Given the description of an element on the screen output the (x, y) to click on. 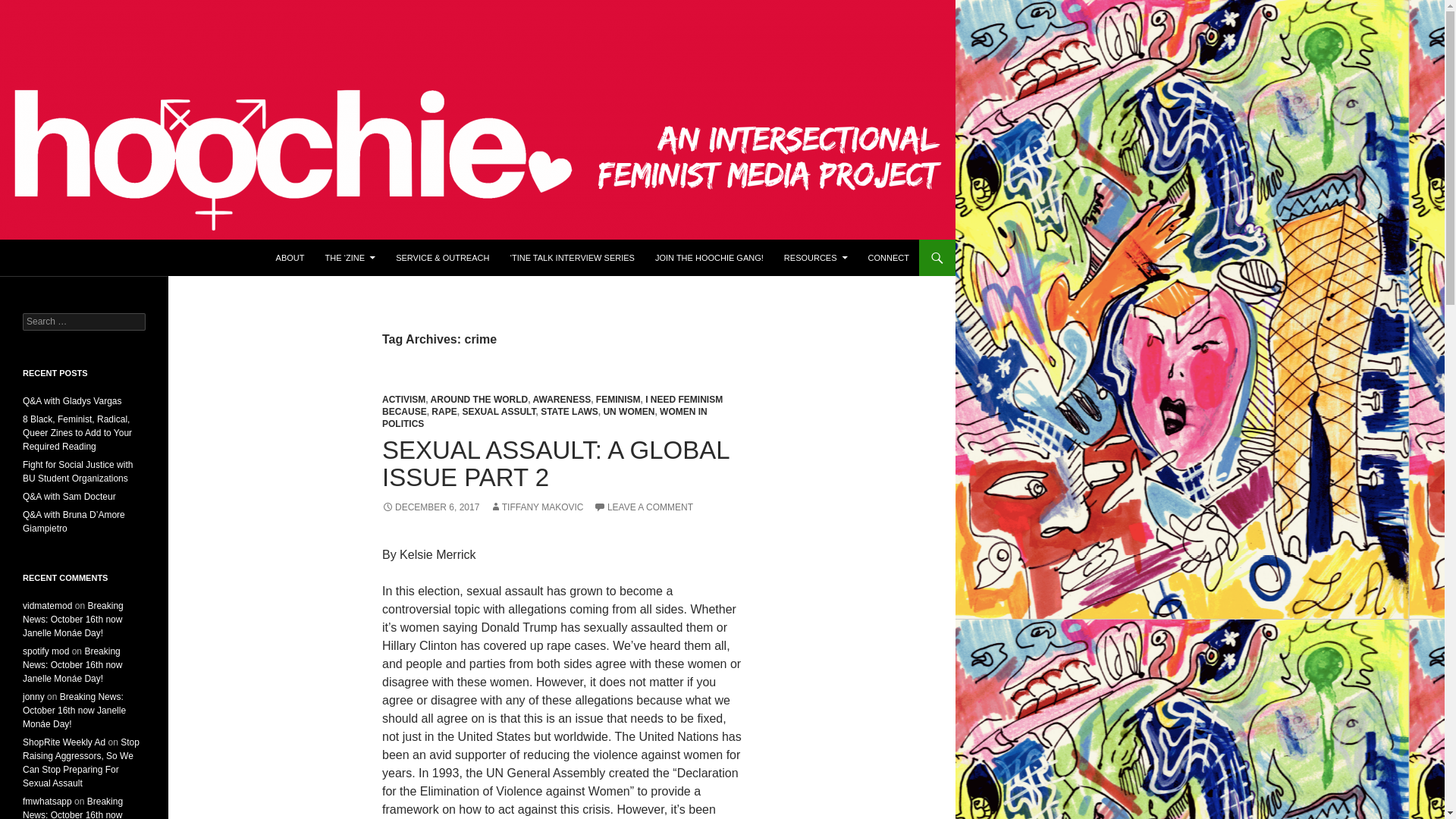
DECEMBER 6, 2017 (430, 507)
STATE LAWS (569, 411)
I NEED FEMINISM BECAUSE (551, 404)
RAPE (443, 411)
SEXUAL ASSULT (498, 411)
LEAVE A COMMENT (643, 507)
WOMEN IN POLITICS (544, 417)
UN WOMEN (627, 411)
AROUND THE WORLD (479, 398)
